Given the description of an element on the screen output the (x, y) to click on. 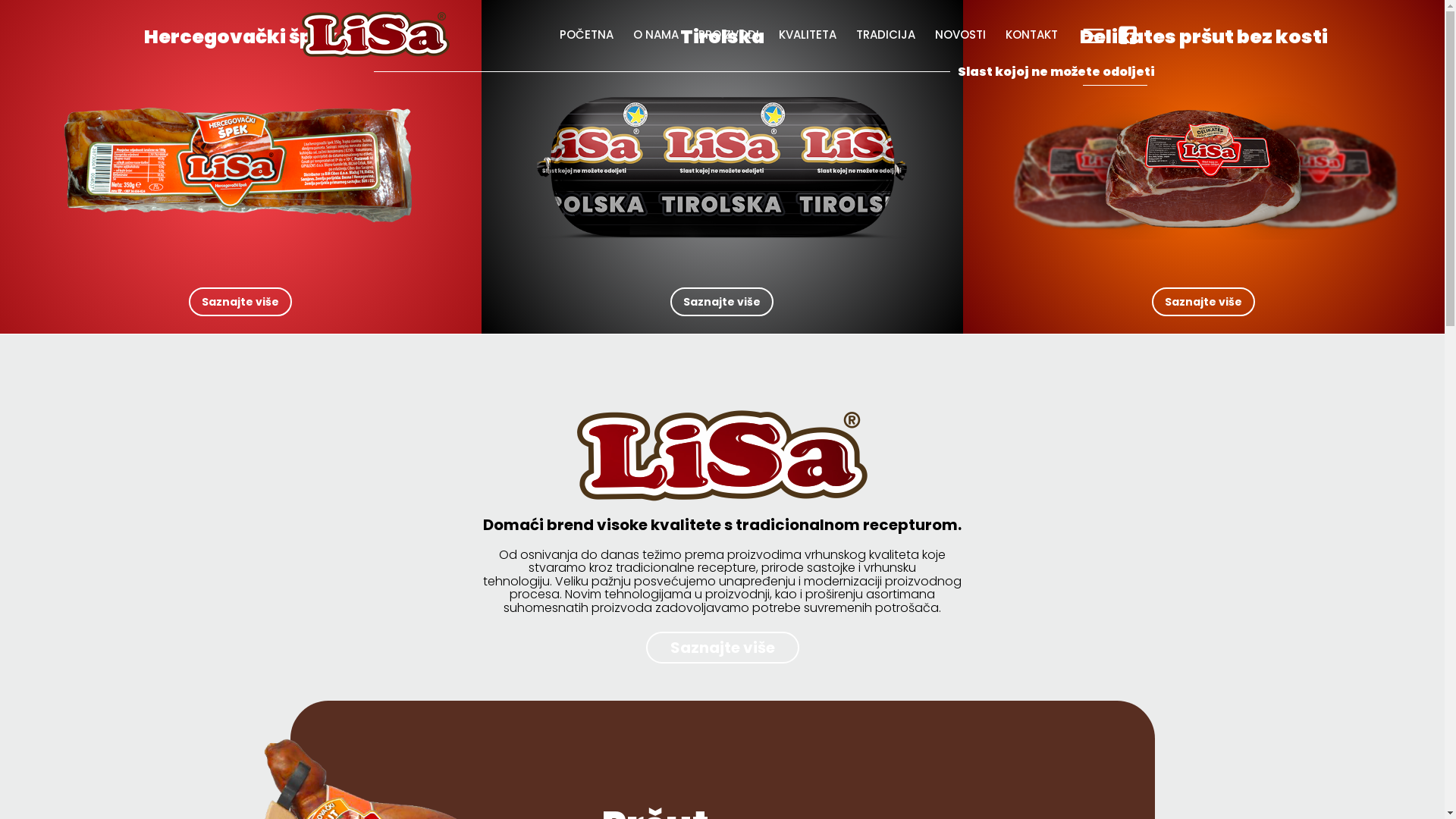
TRADICIJA Element type: text (885, 34)
O NAMA Element type: text (655, 34)
NOVOSTI Element type: text (960, 34)
KVALITETA Element type: text (807, 34)
KONTAKT Element type: text (1030, 34)
PROIZVODI Element type: text (728, 34)
